Given the description of an element on the screen output the (x, y) to click on. 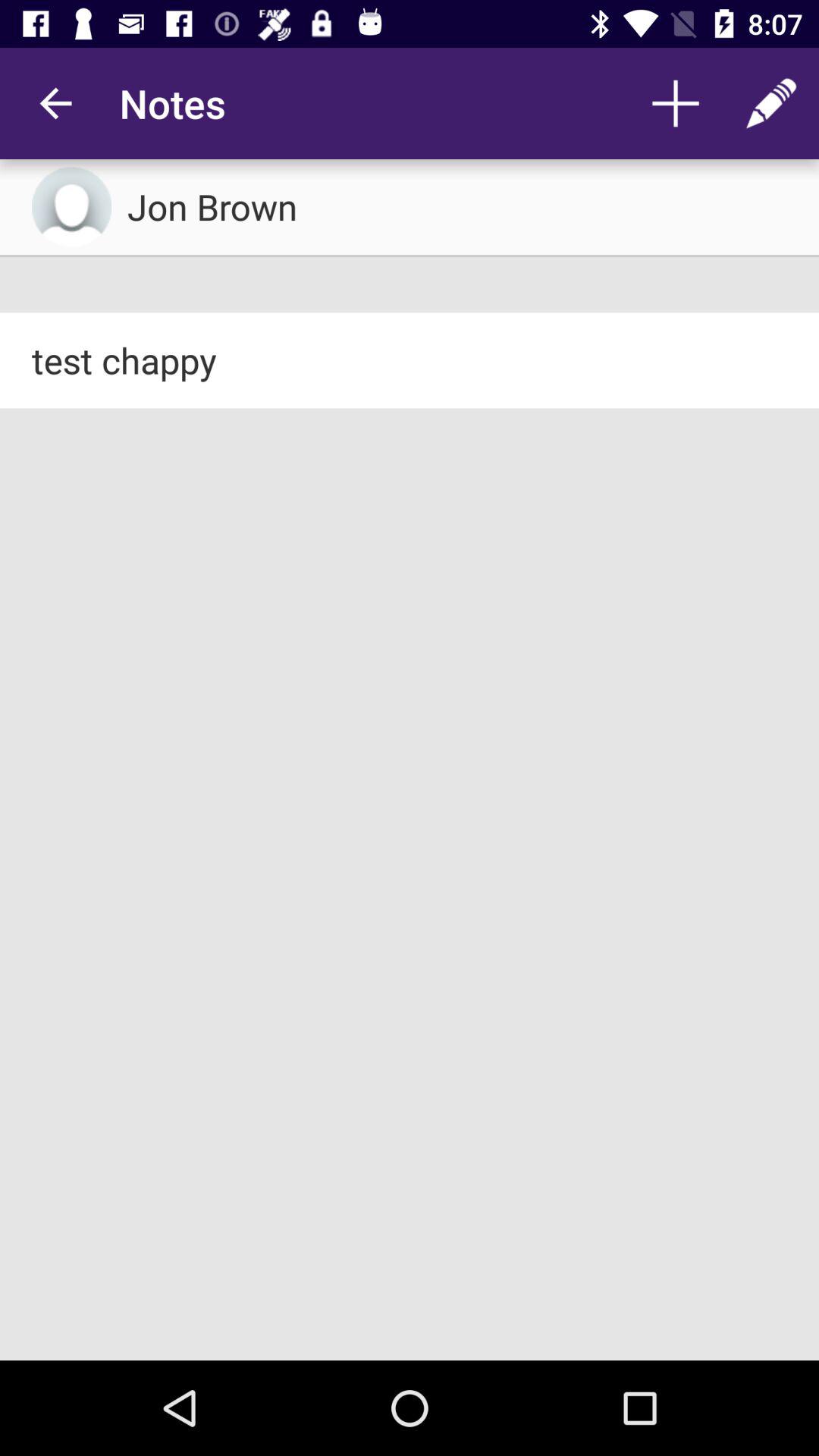
turn on the icon to the right of the notes item (675, 103)
